Given the description of an element on the screen output the (x, y) to click on. 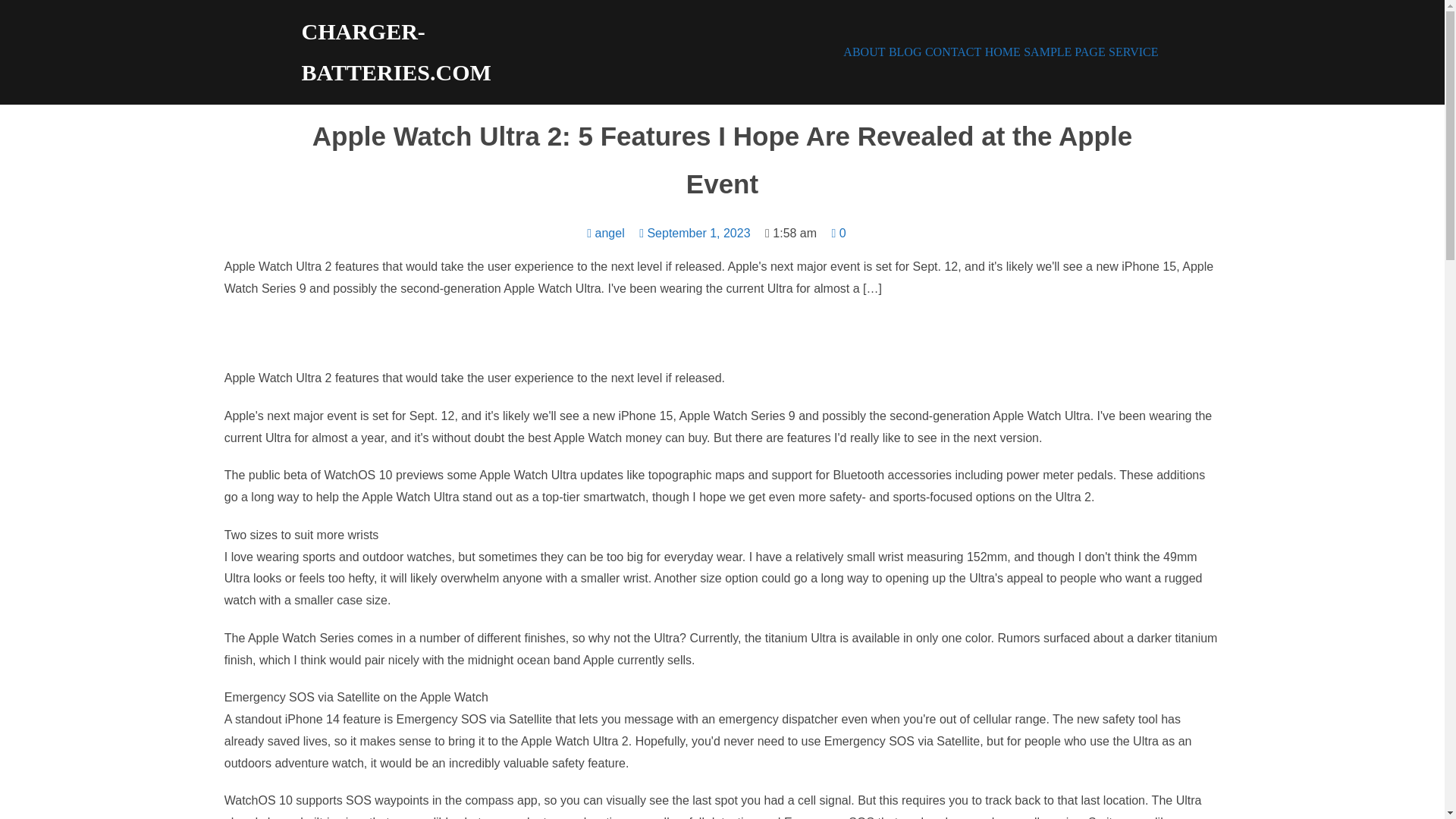
SAMPLE PAGE (1064, 52)
SERVICE (1132, 52)
September 1, 2023 (694, 232)
angel (605, 232)
CONTACT (952, 52)
HOME (1002, 52)
BLOG (904, 52)
0 (838, 232)
CHARGER-BATTERIES.COM (411, 52)
ABOUT (864, 52)
